Given the description of an element on the screen output the (x, y) to click on. 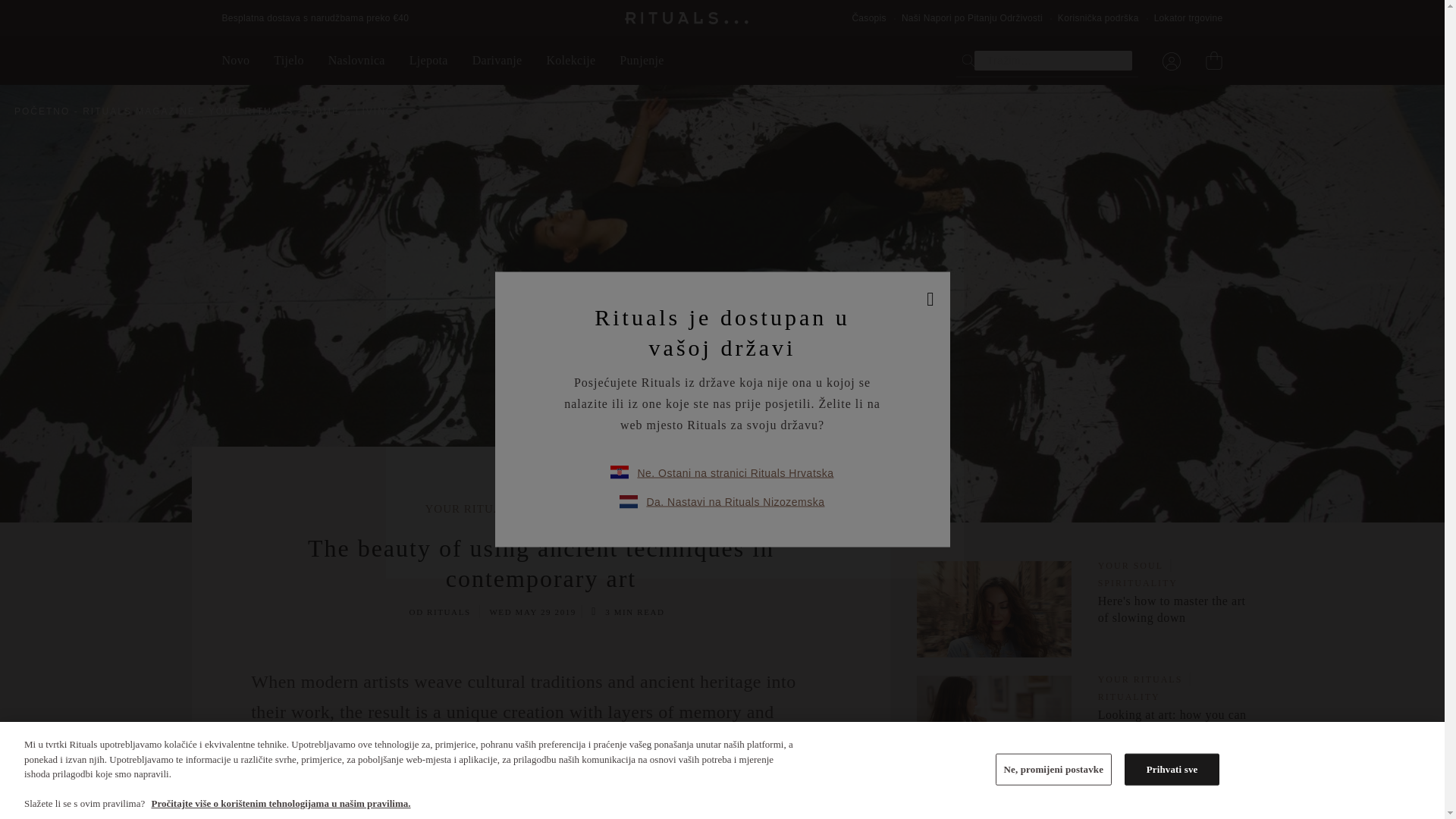
Rituals Magazine (142, 111)
Lokator trgovine (1188, 18)
Your Rituals (255, 111)
Logotip Rituals (686, 18)
